Given the description of an element on the screen output the (x, y) to click on. 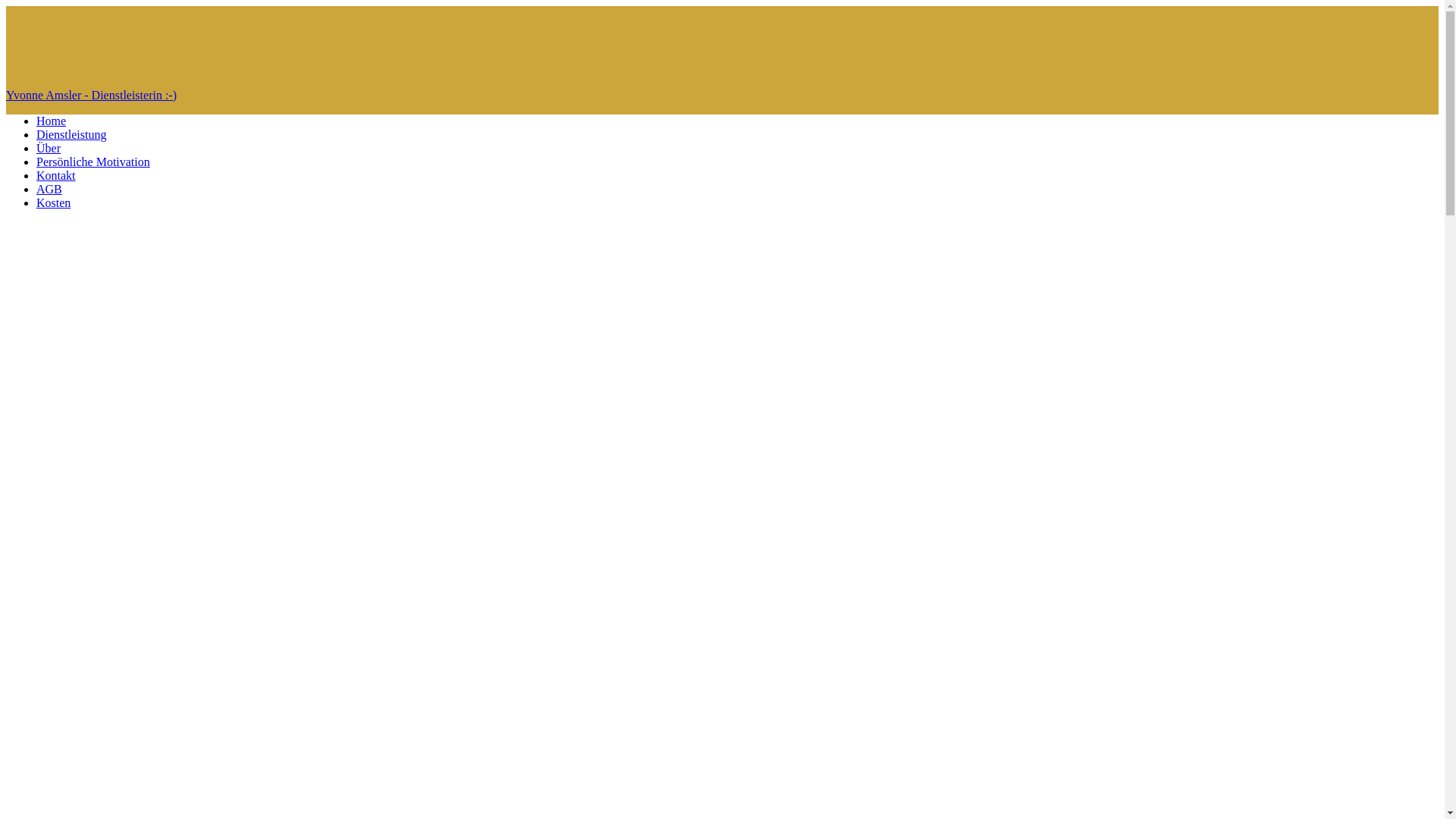
Dienstleistung Element type: text (71, 134)
Home Element type: text (50, 120)
AGB Element type: text (49, 188)
Kontakt Element type: text (55, 175)
Kosten Element type: text (53, 202)
Yvonne Amsler - Dienstleisterin :-) Element type: text (722, 95)
